Given the description of an element on the screen output the (x, y) to click on. 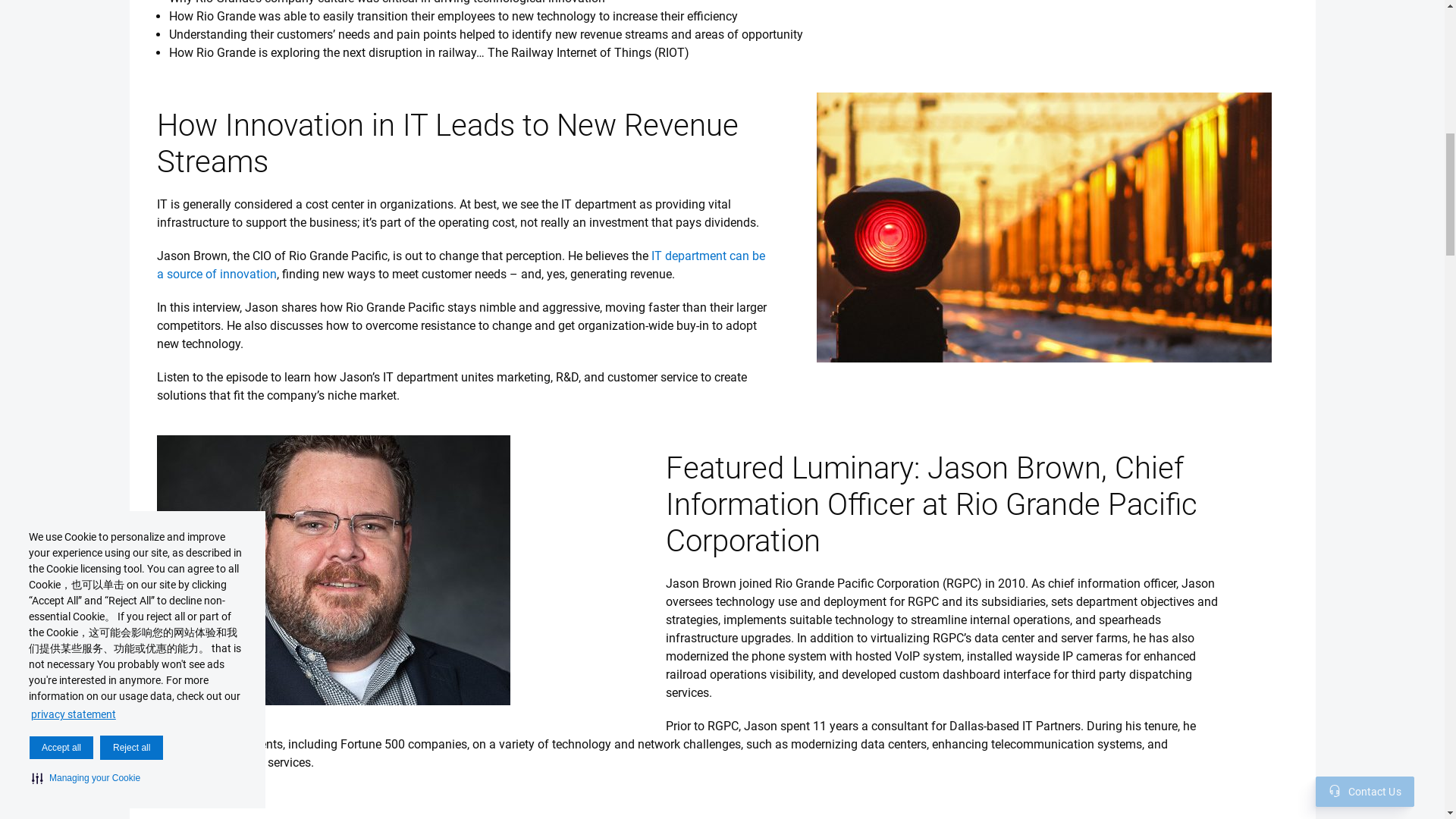
portrait (332, 569)
